Given the description of an element on the screen output the (x, y) to click on. 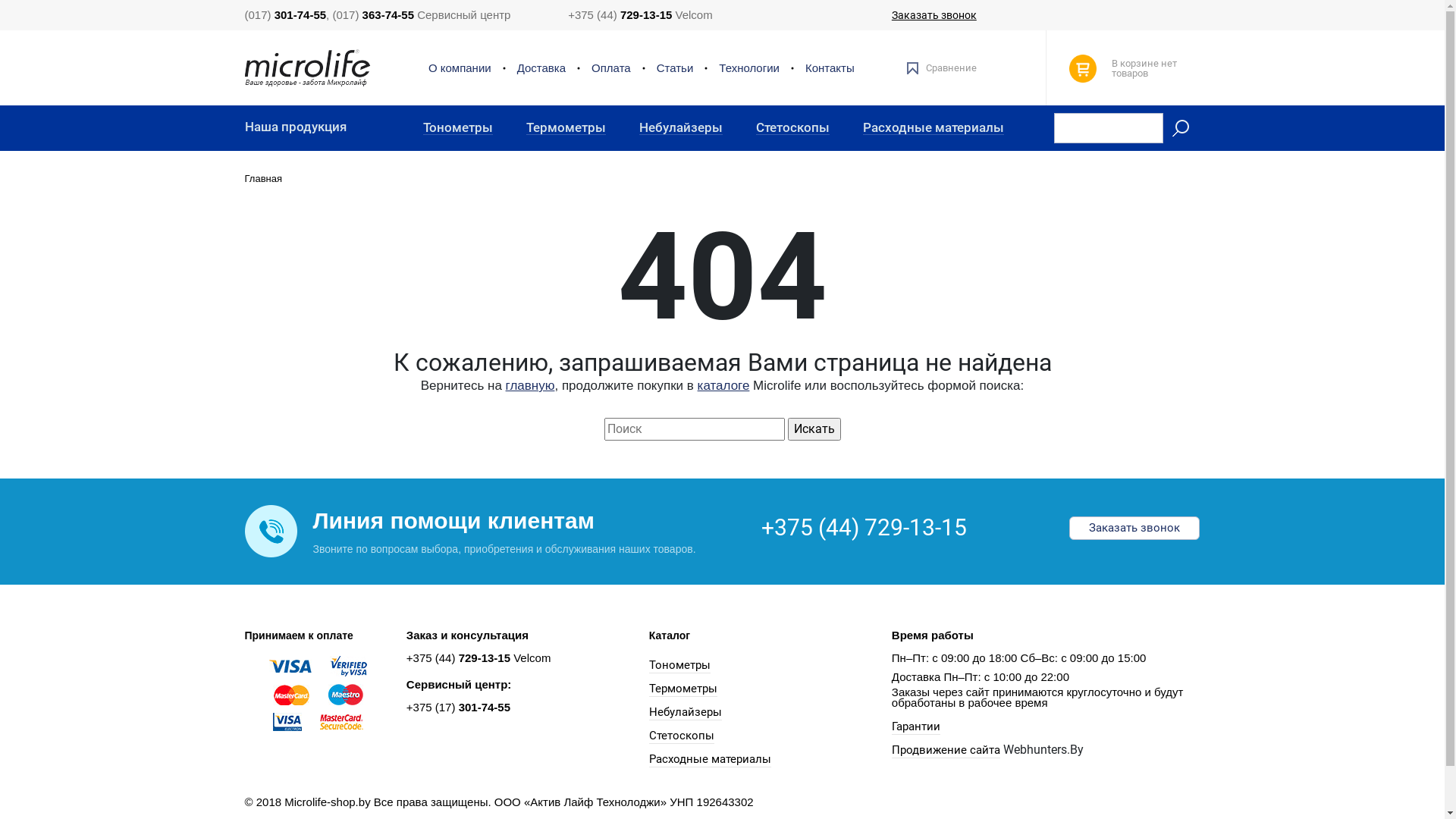
+375 (44) 729-13-15 Element type: text (863, 527)
